Given the description of an element on the screen output the (x, y) to click on. 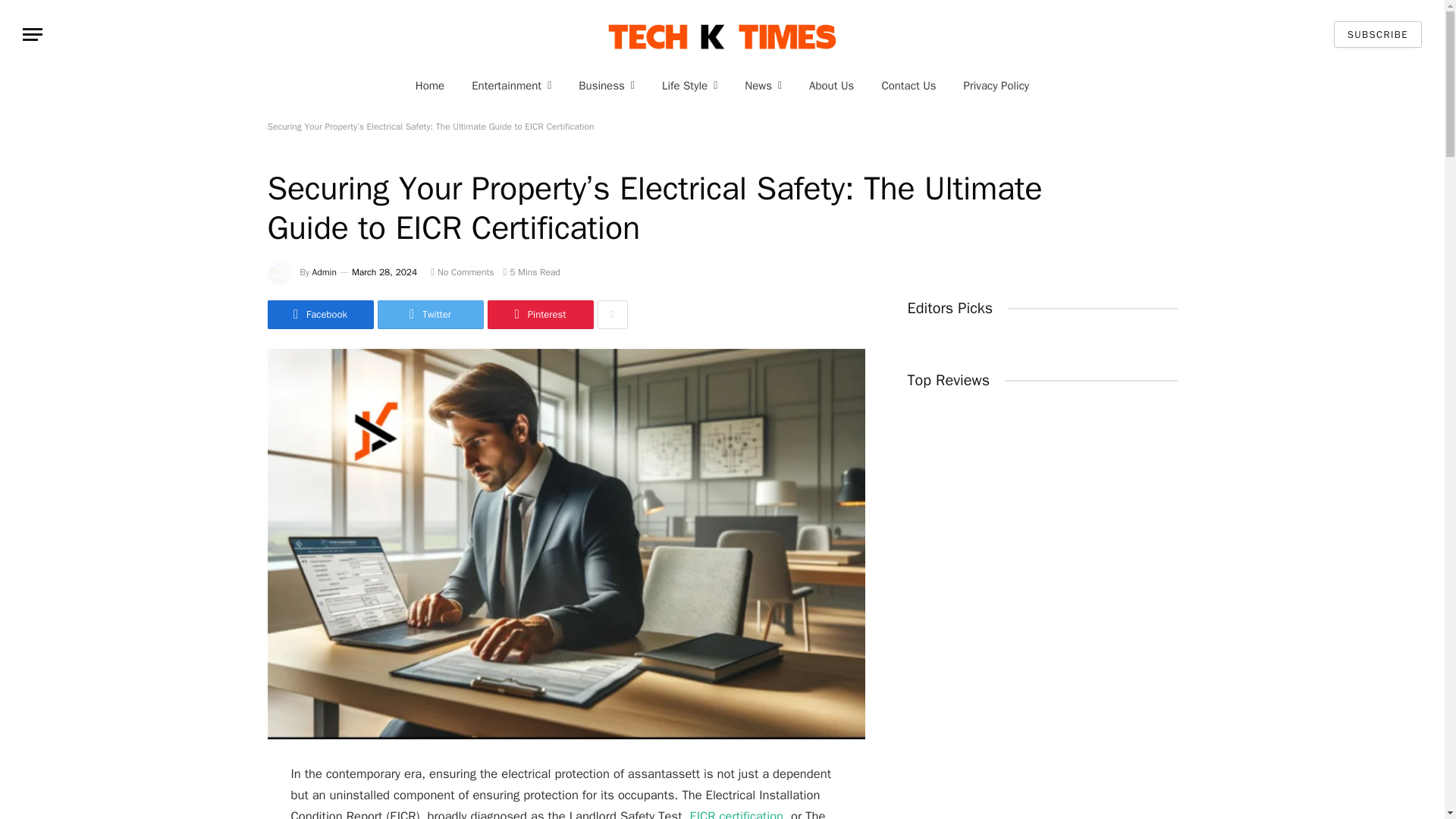
Tech k Times (721, 34)
Share on Facebook (319, 314)
Posts by Admin (324, 272)
